Given the description of an element on the screen output the (x, y) to click on. 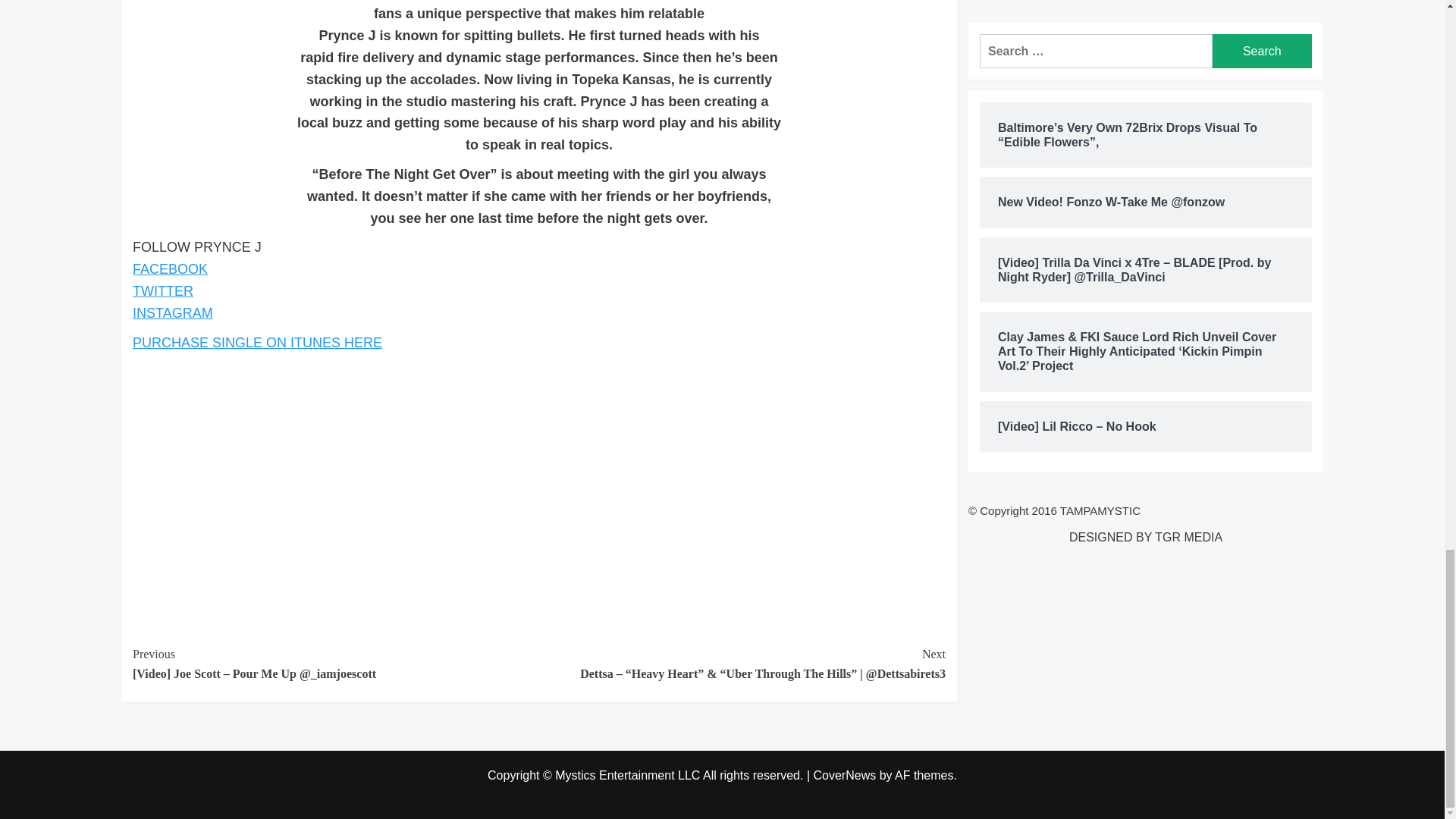
TWITTER (162, 290)
CoverNews (844, 775)
PURCHASE SINGLE ON ITUNES HERE (256, 342)
INSTAGRAM (172, 313)
FACEBOOK (170, 268)
